Given the description of an element on the screen output the (x, y) to click on. 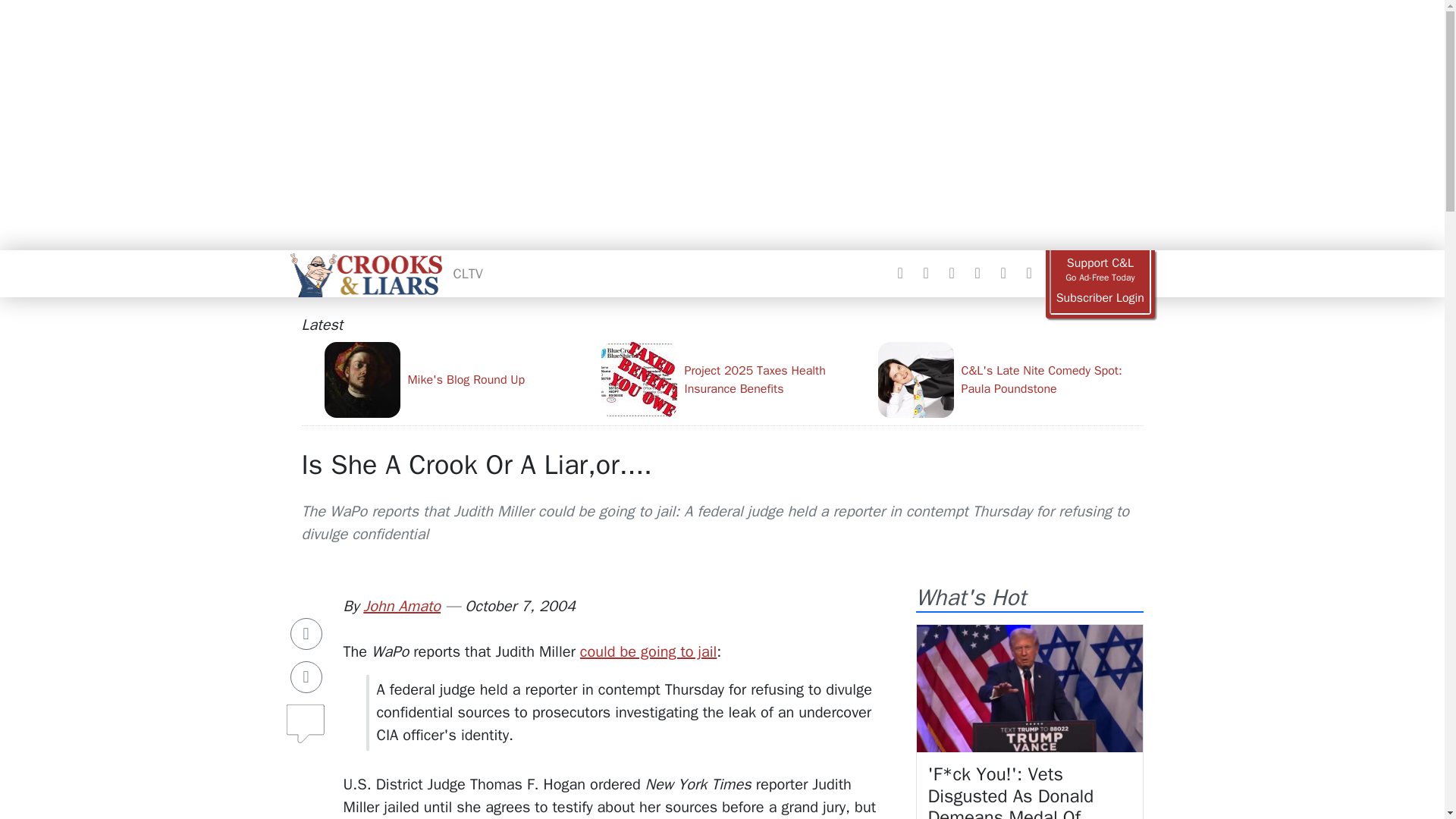
Mike's Blog Round Up (456, 379)
Login to your ad free account (1099, 298)
Project 2025 Taxes Health Insurance Benefits  (732, 379)
Share on Twitter (306, 676)
John Amato (401, 606)
Is She A Crook Or A Liar,or.... (476, 464)
Mike's Blog Round Up (456, 379)
could be going to jail (648, 651)
Subscriber Login (1099, 298)
CLTV (467, 273)
